Given the description of an element on the screen output the (x, y) to click on. 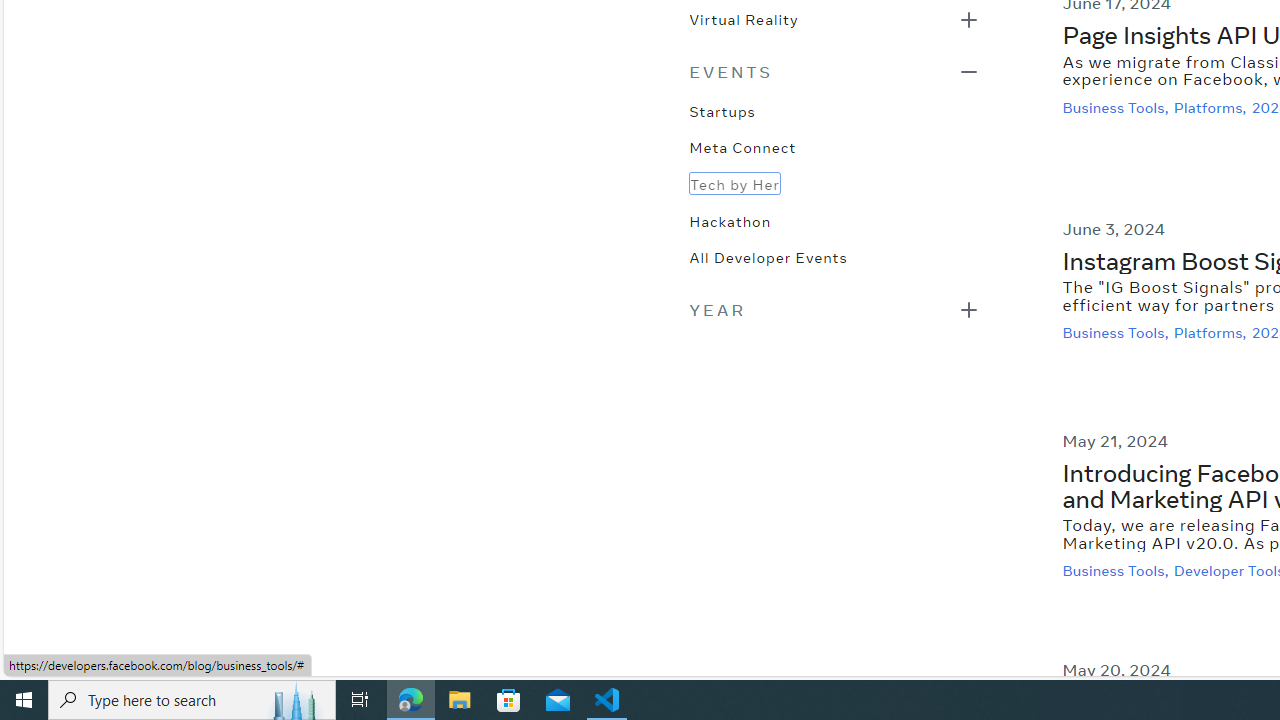
Business Tools, (1117, 571)
Class: _98ex _98ez (834, 25)
Class: _9890 _98ez (834, 308)
Startups (722, 109)
Meta Connect (742, 145)
Platforms, (1211, 333)
Virtual Reality (743, 17)
Hackathon (729, 219)
Class: _98ex (834, 263)
Tech by Her (734, 183)
Class: _9890 _98ey (834, 71)
All Developer Events (767, 255)
